Given the description of an element on the screen output the (x, y) to click on. 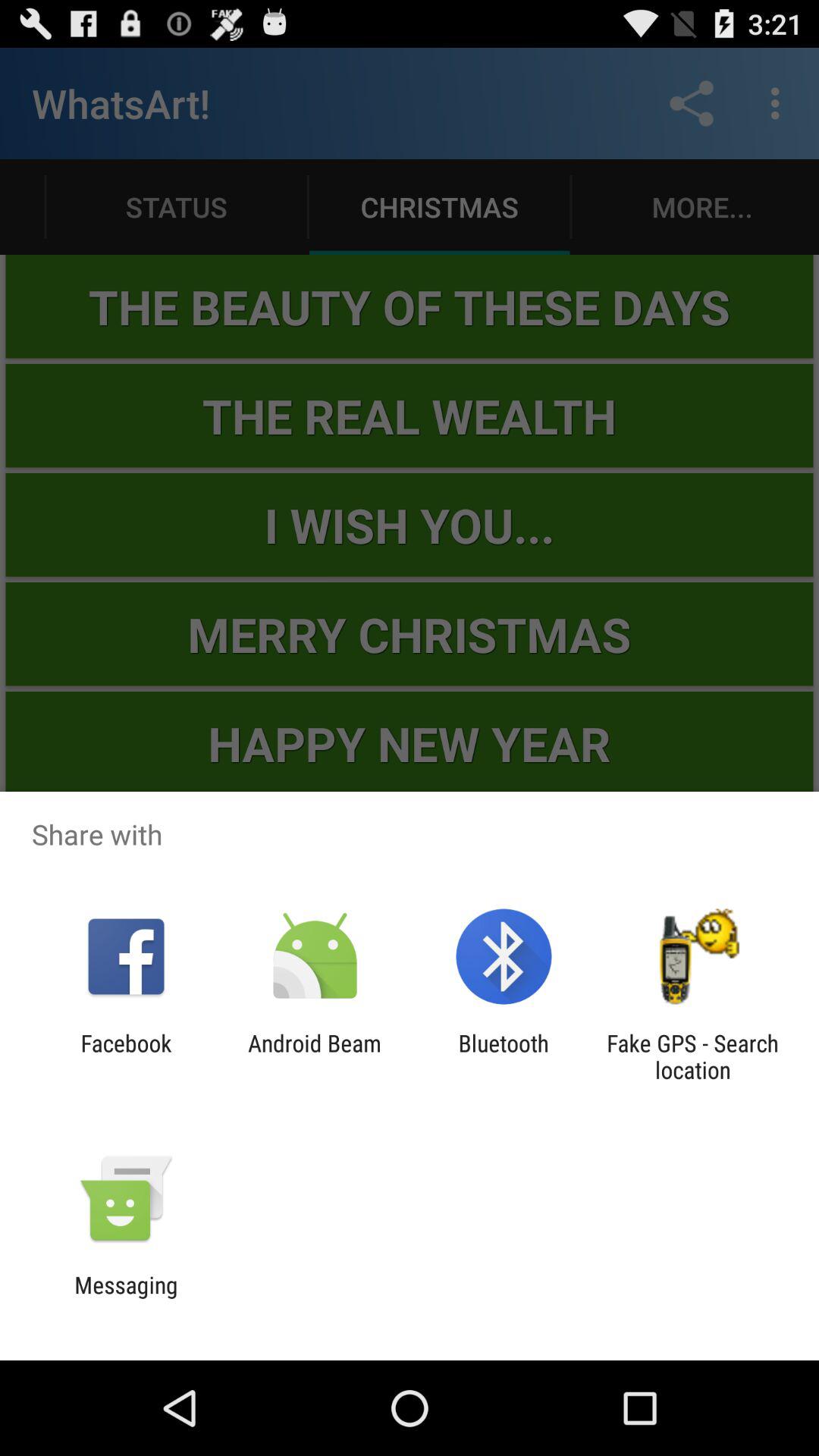
turn on icon to the left of the bluetooth (314, 1056)
